Given the description of an element on the screen output the (x, y) to click on. 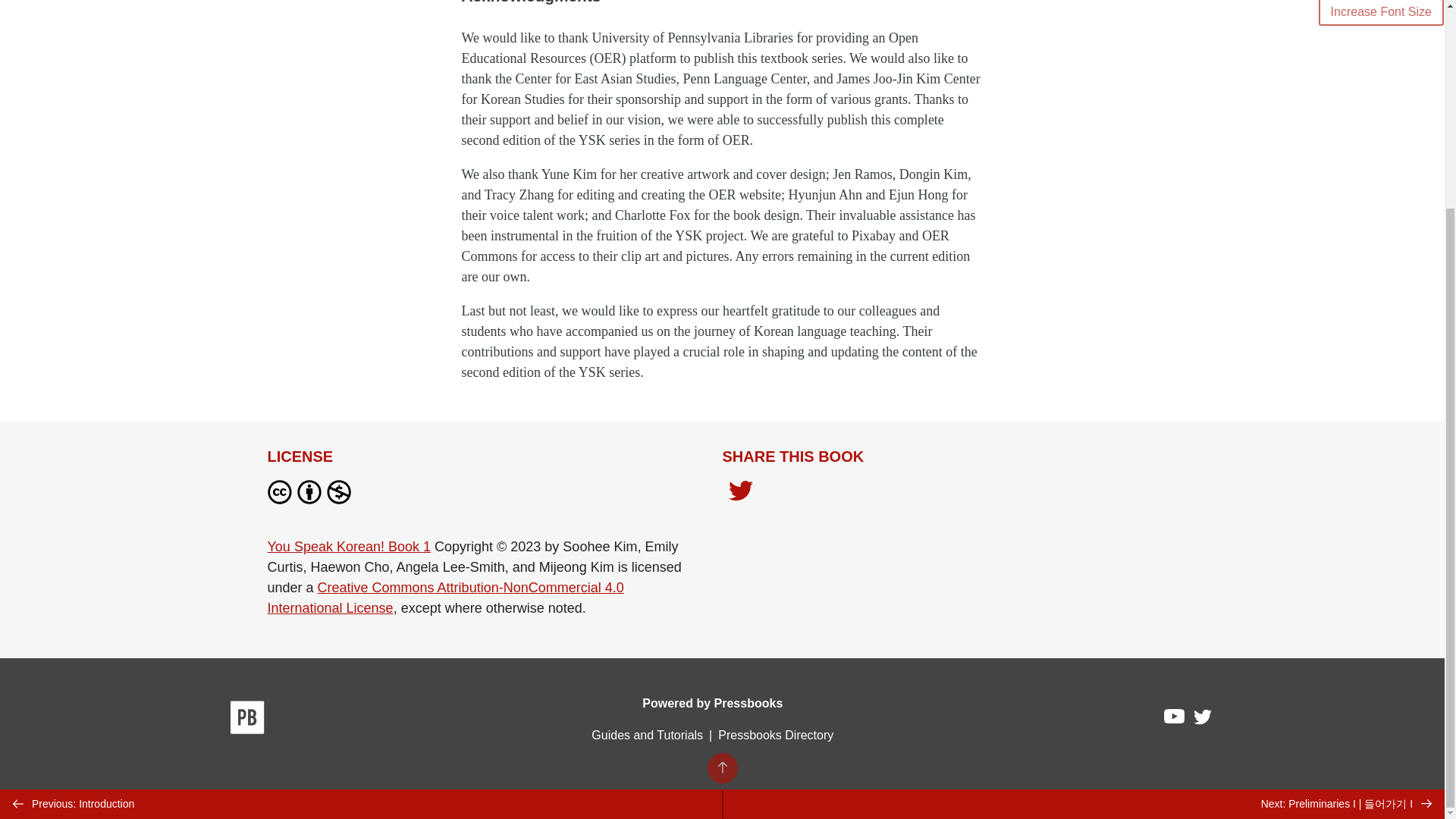
Previous: Introduction (361, 534)
Guides and Tutorials (647, 735)
Previous: Introduction (361, 534)
Share on Twitter (740, 494)
Share on Twitter (740, 491)
You Speak Korean! Book 1 (348, 546)
Powered by Pressbooks (712, 703)
Pressbooks Directory (775, 735)
